Given the description of an element on the screen output the (x, y) to click on. 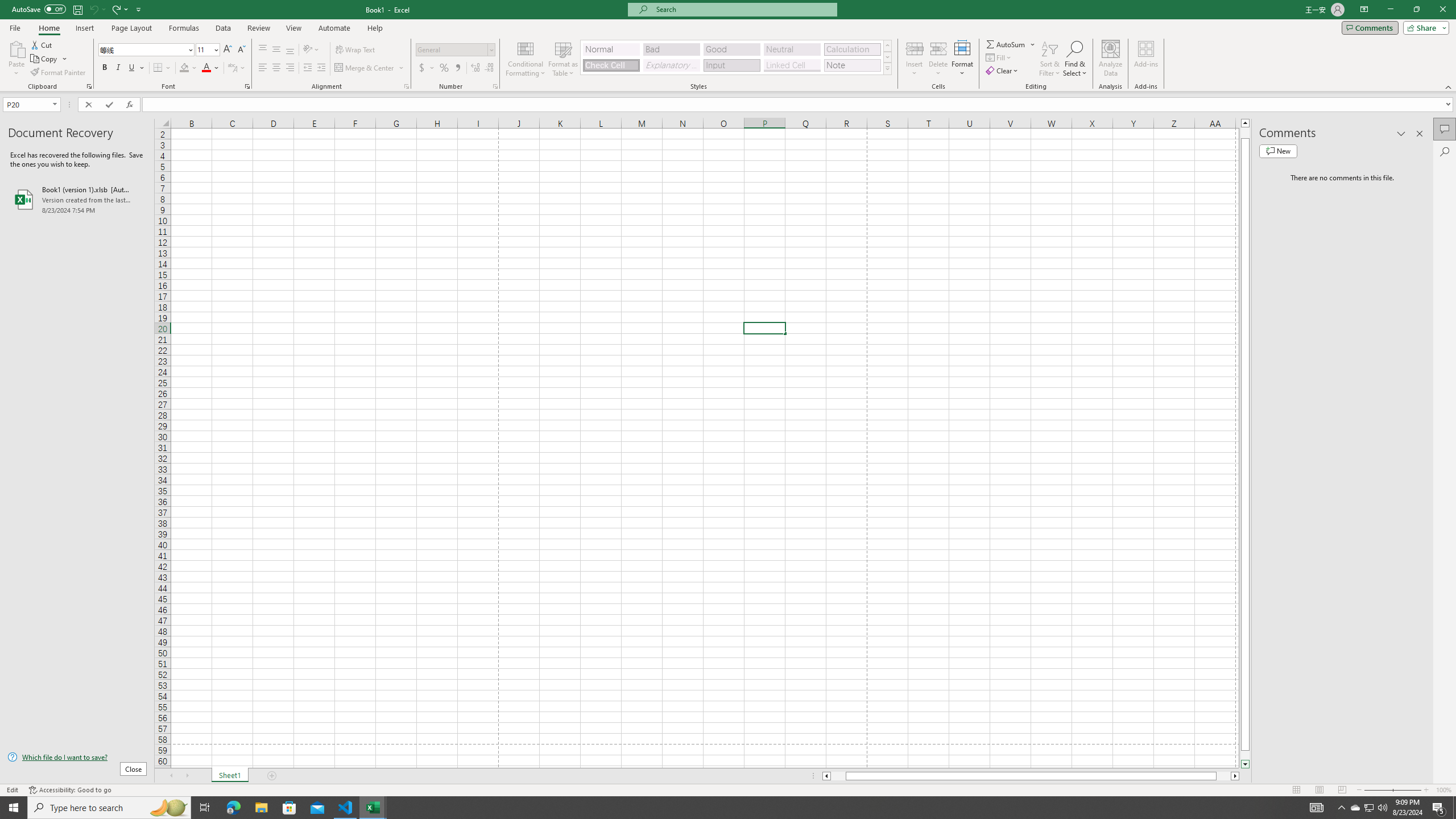
Percent Style (443, 67)
Format as Table (563, 58)
Sum (1006, 44)
Middle Align (276, 49)
Fill Color RGB(255, 255, 0) (183, 67)
